Given the description of an element on the screen output the (x, y) to click on. 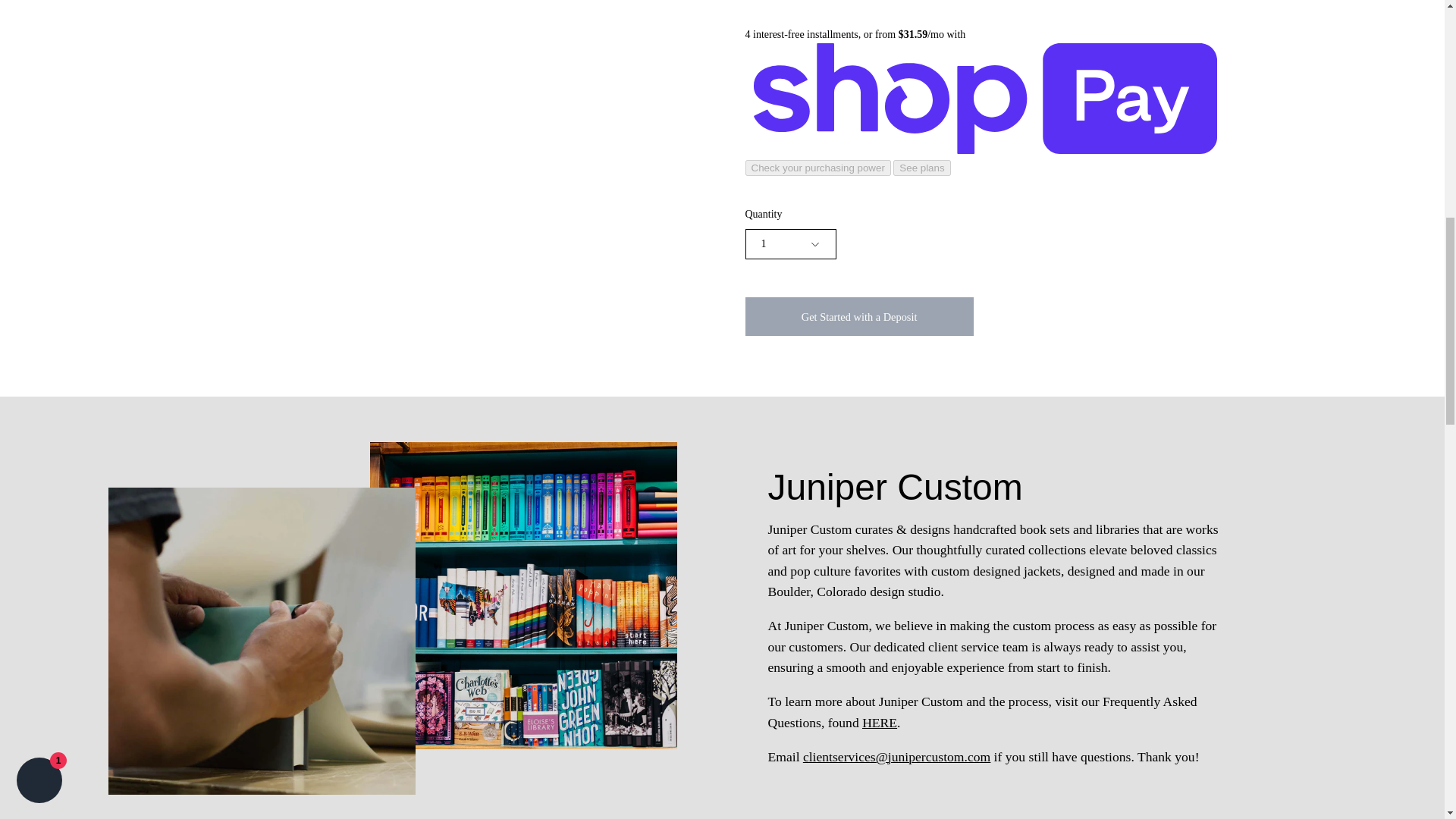
Link to Juniper Custom FAQ (878, 722)
